Given the description of an element on the screen output the (x, y) to click on. 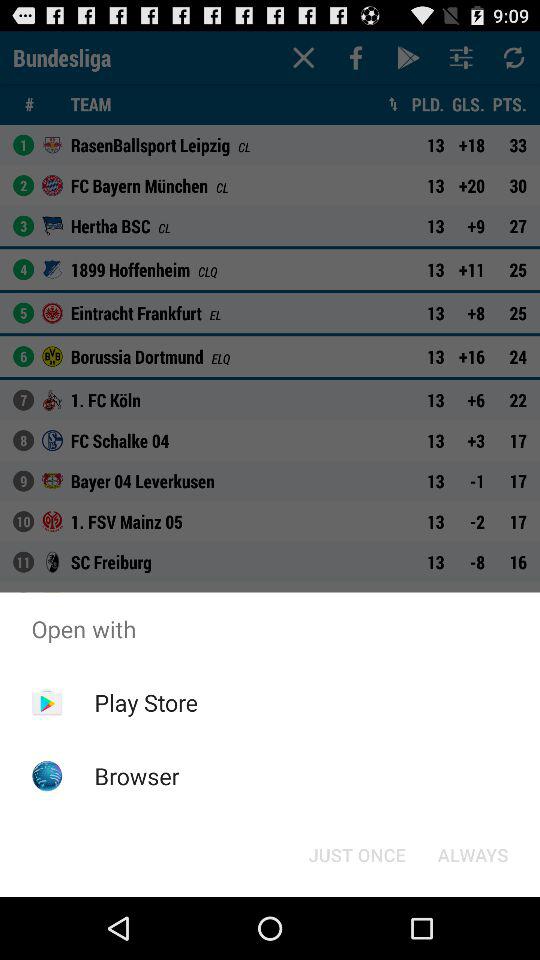
turn off icon below the open with icon (472, 854)
